Given the description of an element on the screen output the (x, y) to click on. 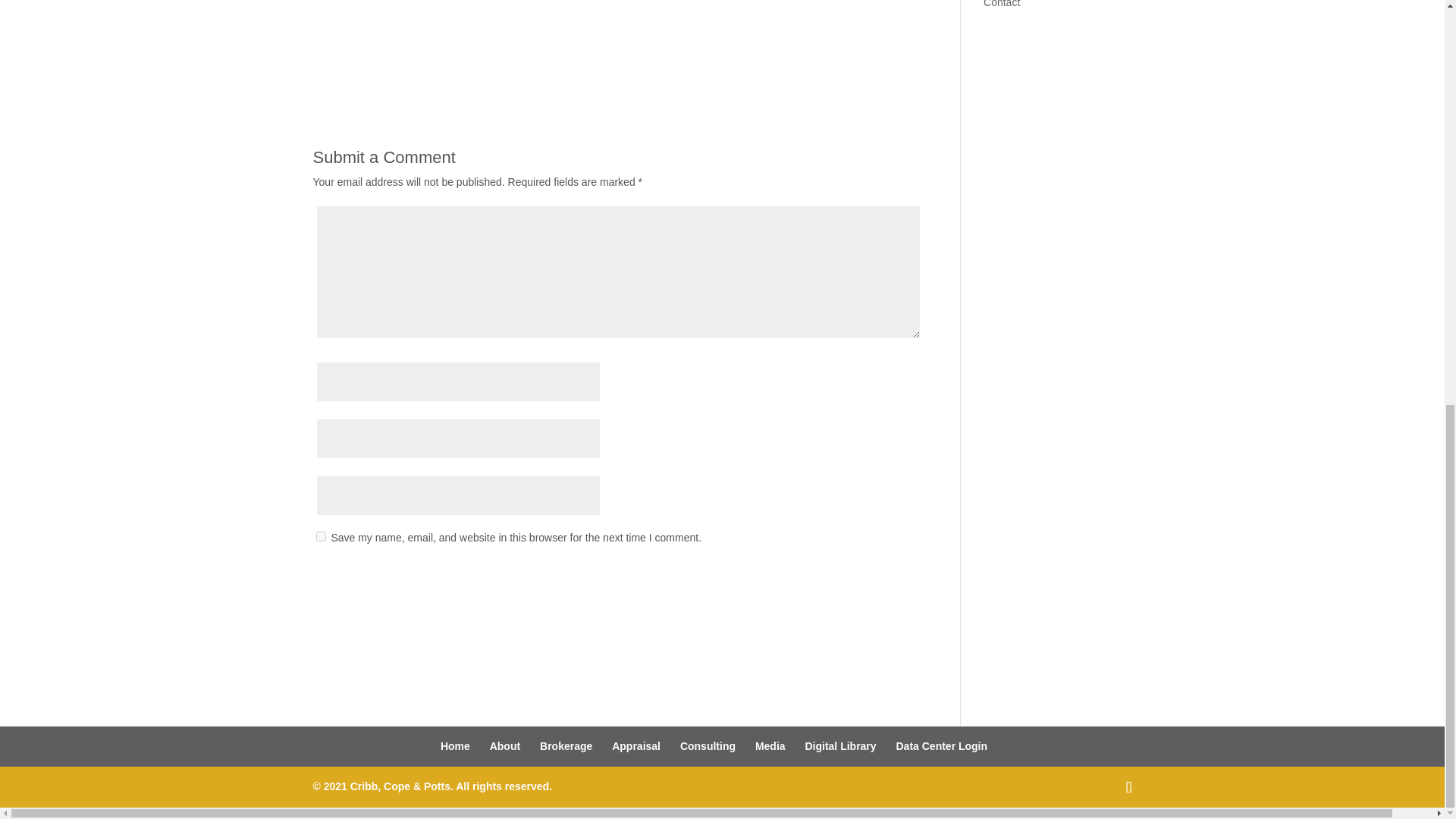
Submit Comment (840, 576)
Submit Comment (840, 576)
yes (319, 536)
